Given the description of an element on the screen output the (x, y) to click on. 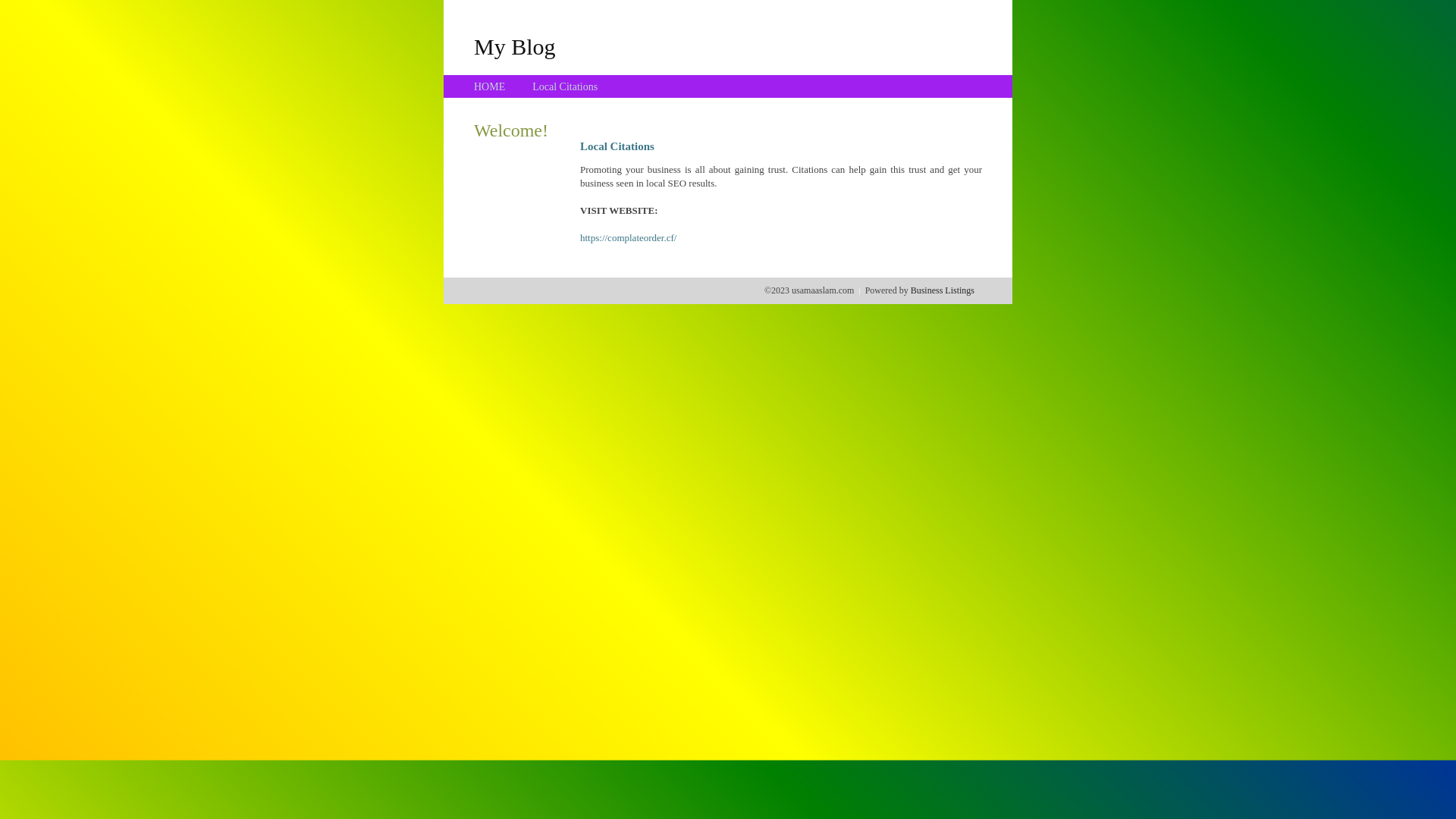
My Blog Element type: text (514, 46)
Business Listings Element type: text (942, 290)
HOME Element type: text (489, 86)
Local Citations Element type: text (564, 86)
https://complateorder.cf/ Element type: text (628, 237)
